Given the description of an element on the screen output the (x, y) to click on. 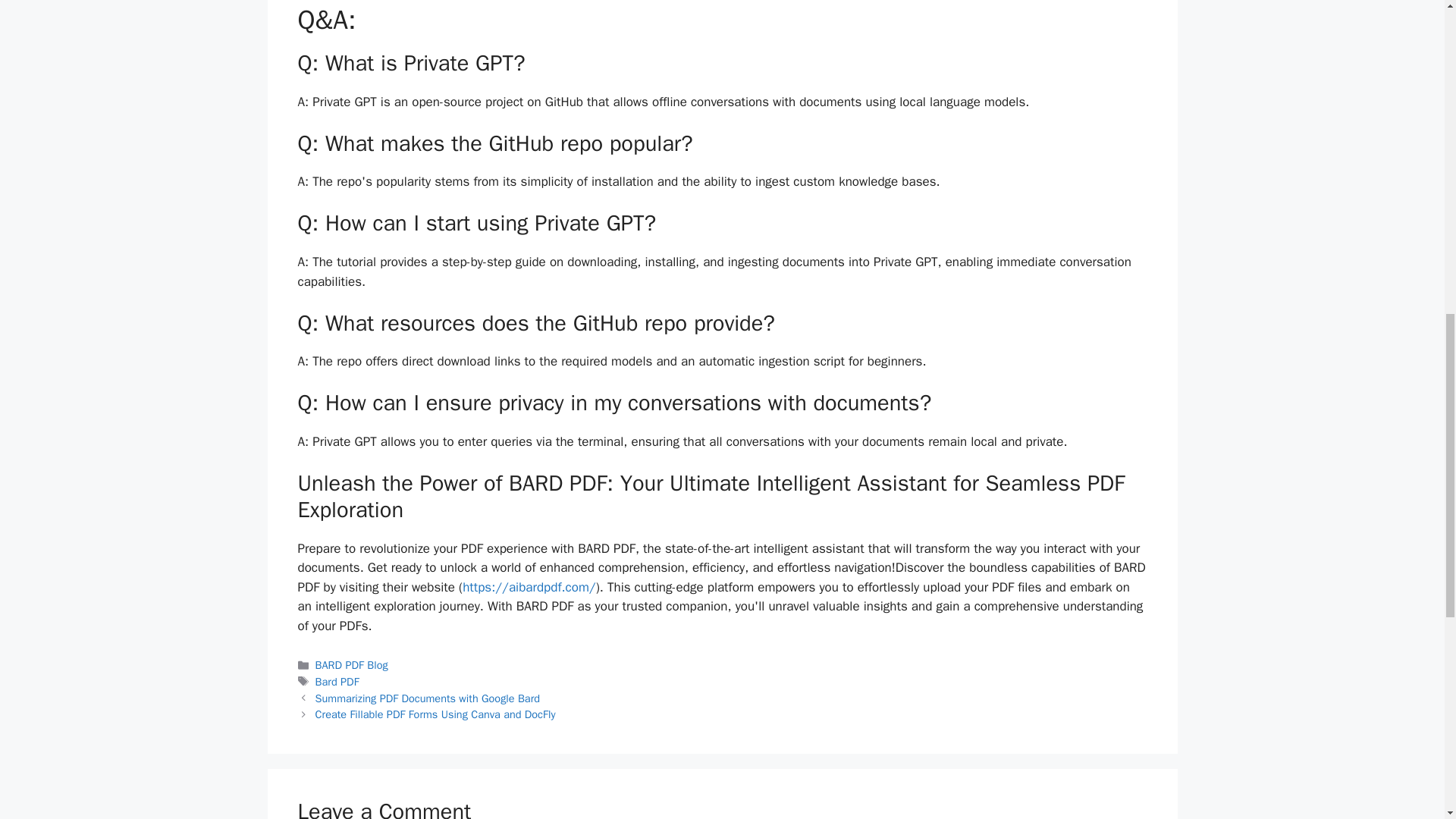
Summarizing PDF Documents with Google Bard (427, 698)
Bard PDF (337, 681)
Create Fillable PDF Forms Using Canva and DocFly (435, 714)
BARD PDF Blog (351, 664)
